Given the description of an element on the screen output the (x, y) to click on. 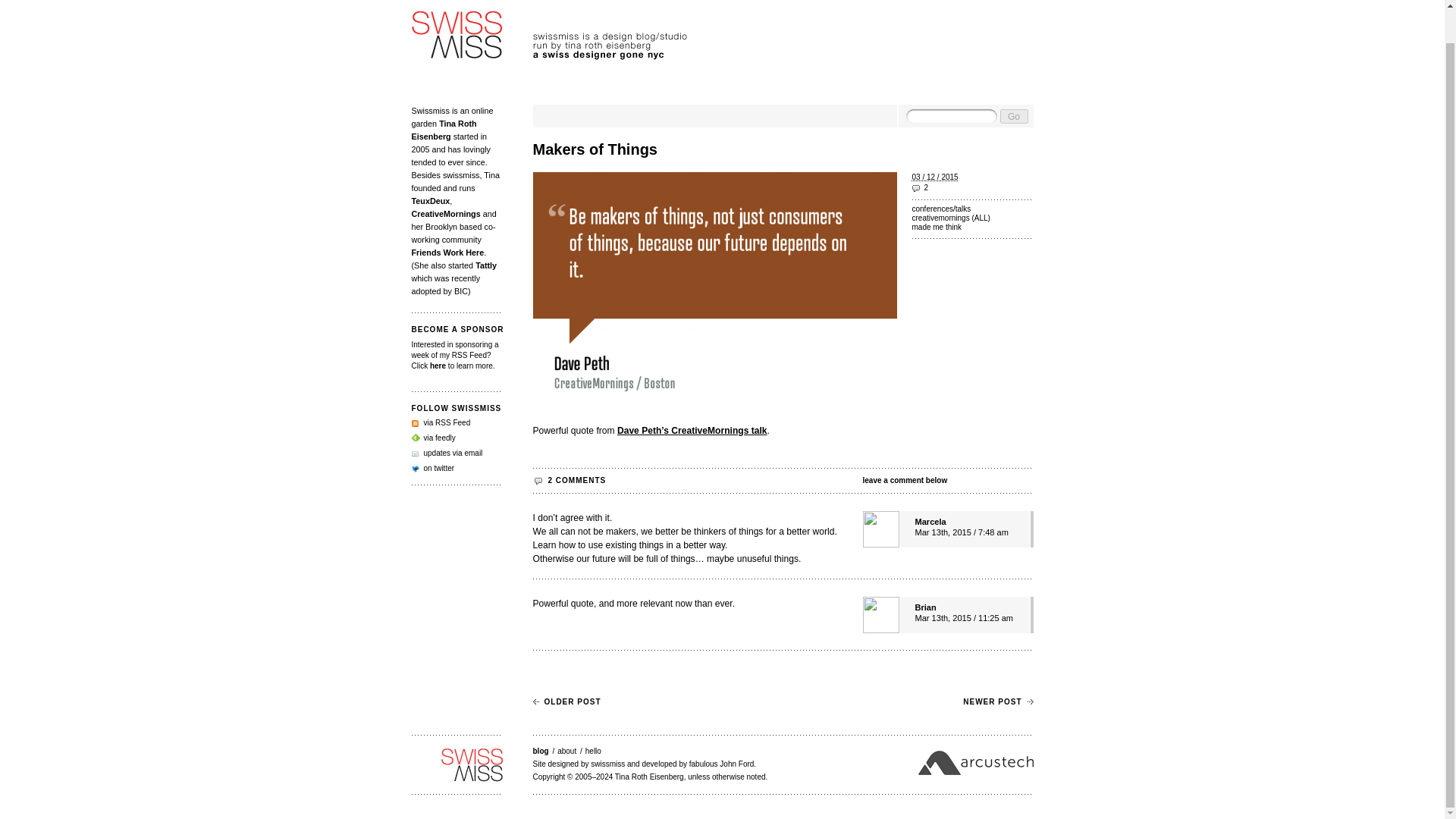
Tina Roth Eisenberg (443, 129)
Friends Work Here (446, 252)
2015-03-12T22:24:53-0400 (934, 176)
developed by fabulous John Ford. (698, 764)
2 (971, 187)
CreativeMornings (445, 213)
here (437, 365)
via RSS Feed (440, 422)
TeuxDeux (429, 200)
NEWER POST (997, 701)
Brian (925, 606)
Go (1012, 115)
leave a comment below (948, 480)
made me think (971, 226)
swissmiss (456, 765)
